Given the description of an element on the screen output the (x, y) to click on. 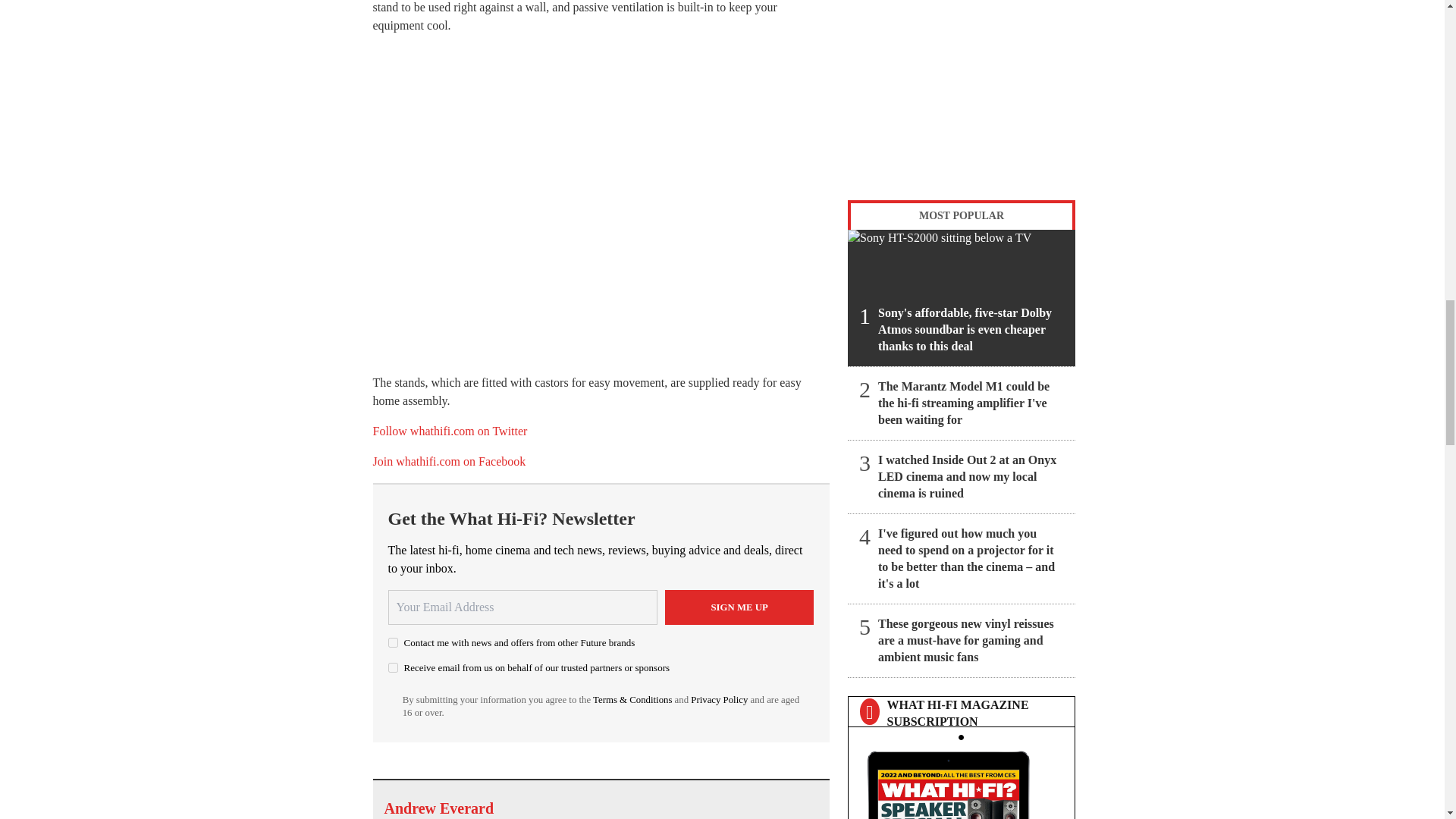
Sign me up (739, 606)
on (392, 642)
What Hi-Fi Magazine... (960, 780)
on (392, 667)
